Given the description of an element on the screen output the (x, y) to click on. 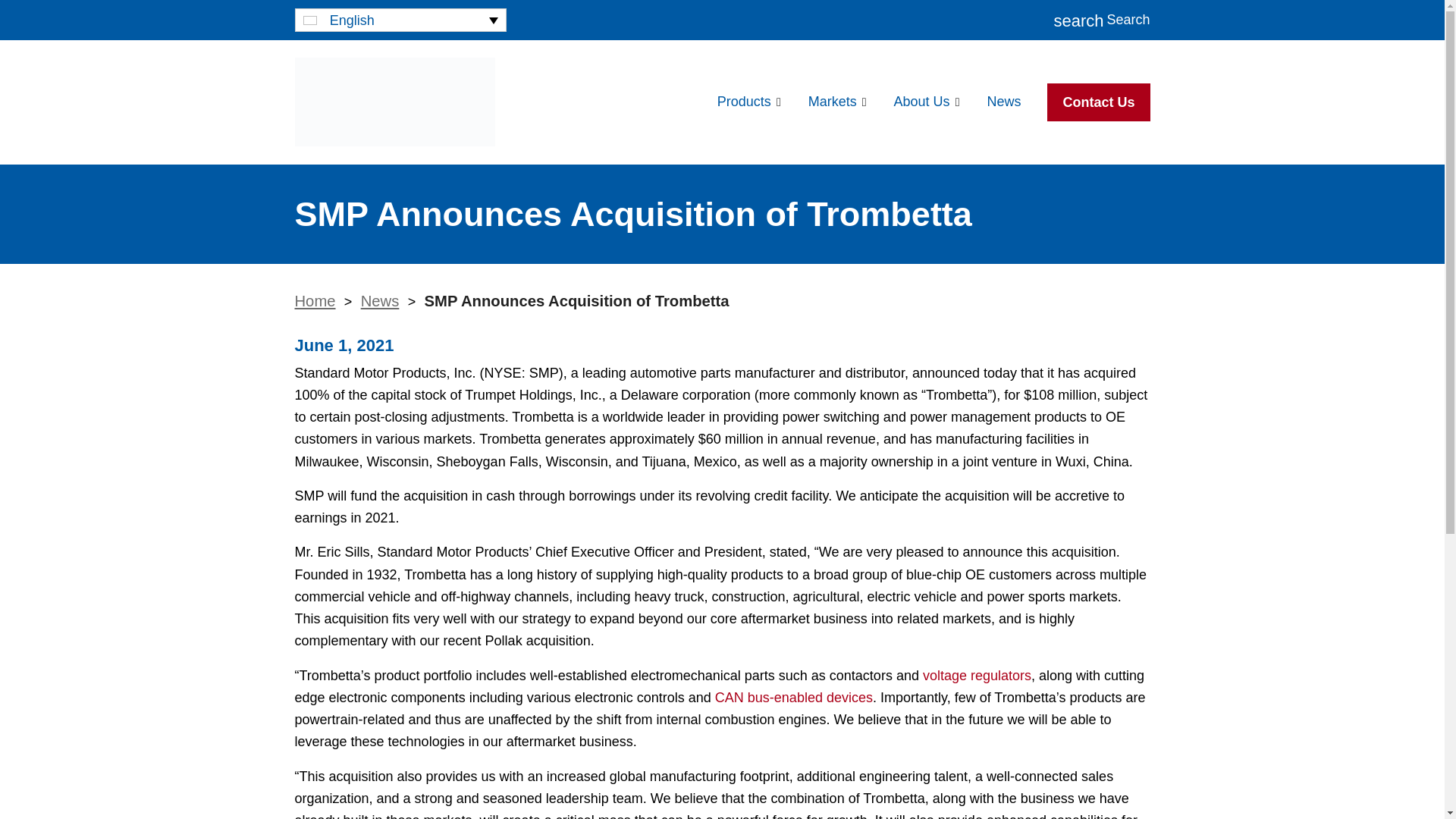
Standard Motor Products, Inc. (394, 101)
Products (748, 101)
Products (748, 101)
English (399, 19)
searchSearch (1101, 19)
